Given the description of an element on the screen output the (x, y) to click on. 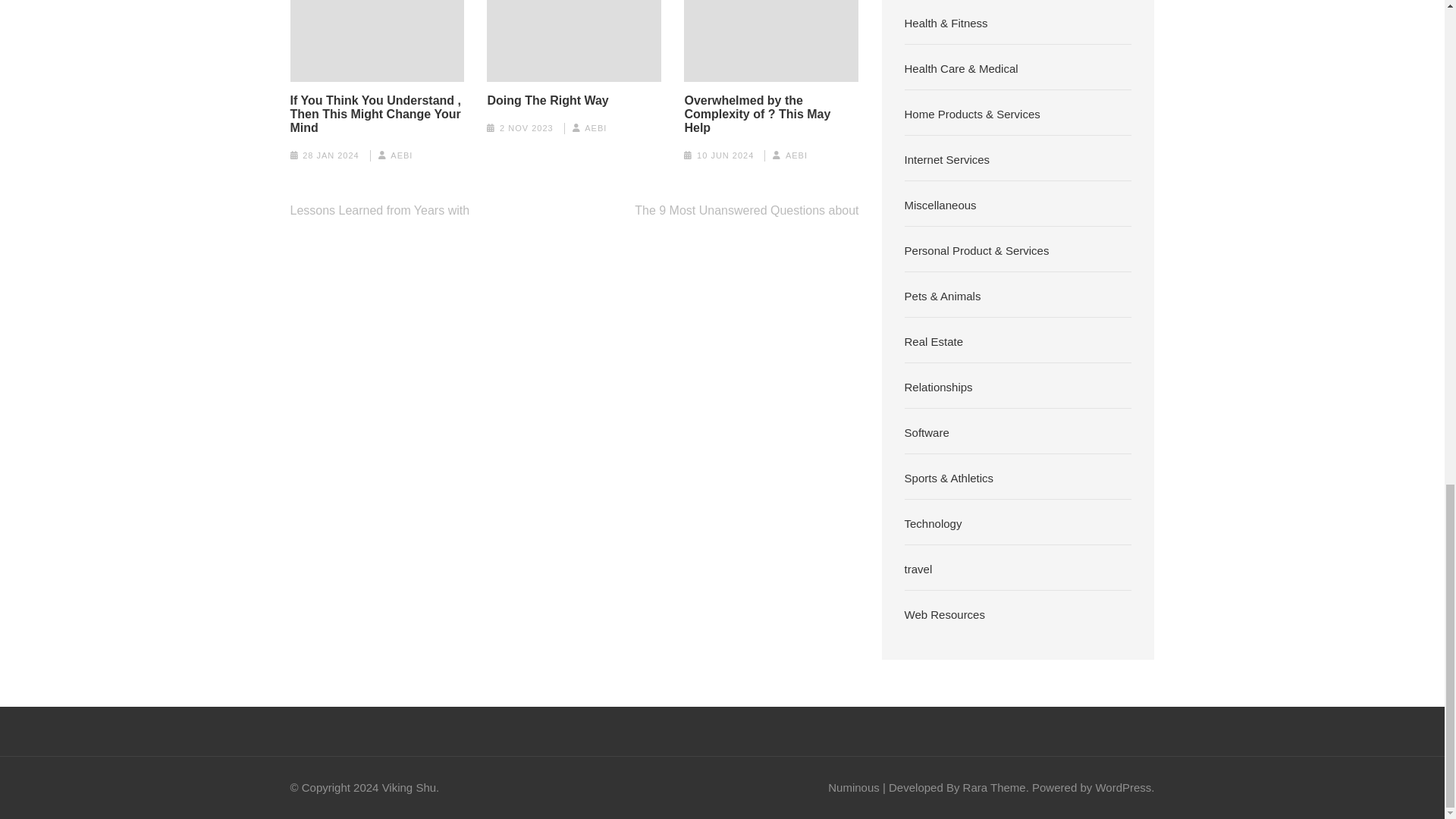
2 NOV 2023 (526, 127)
Doing The Right Way (547, 100)
AEBI (401, 154)
Overwhelmed by the Complexity of ? This May Help (771, 114)
10 JUN 2024 (725, 154)
AEBI (797, 154)
Lessons Learned from Years with (378, 210)
28 JAN 2024 (330, 154)
AEBI (596, 127)
The 9 Most Unanswered Questions about (746, 210)
